Given the description of an element on the screen output the (x, y) to click on. 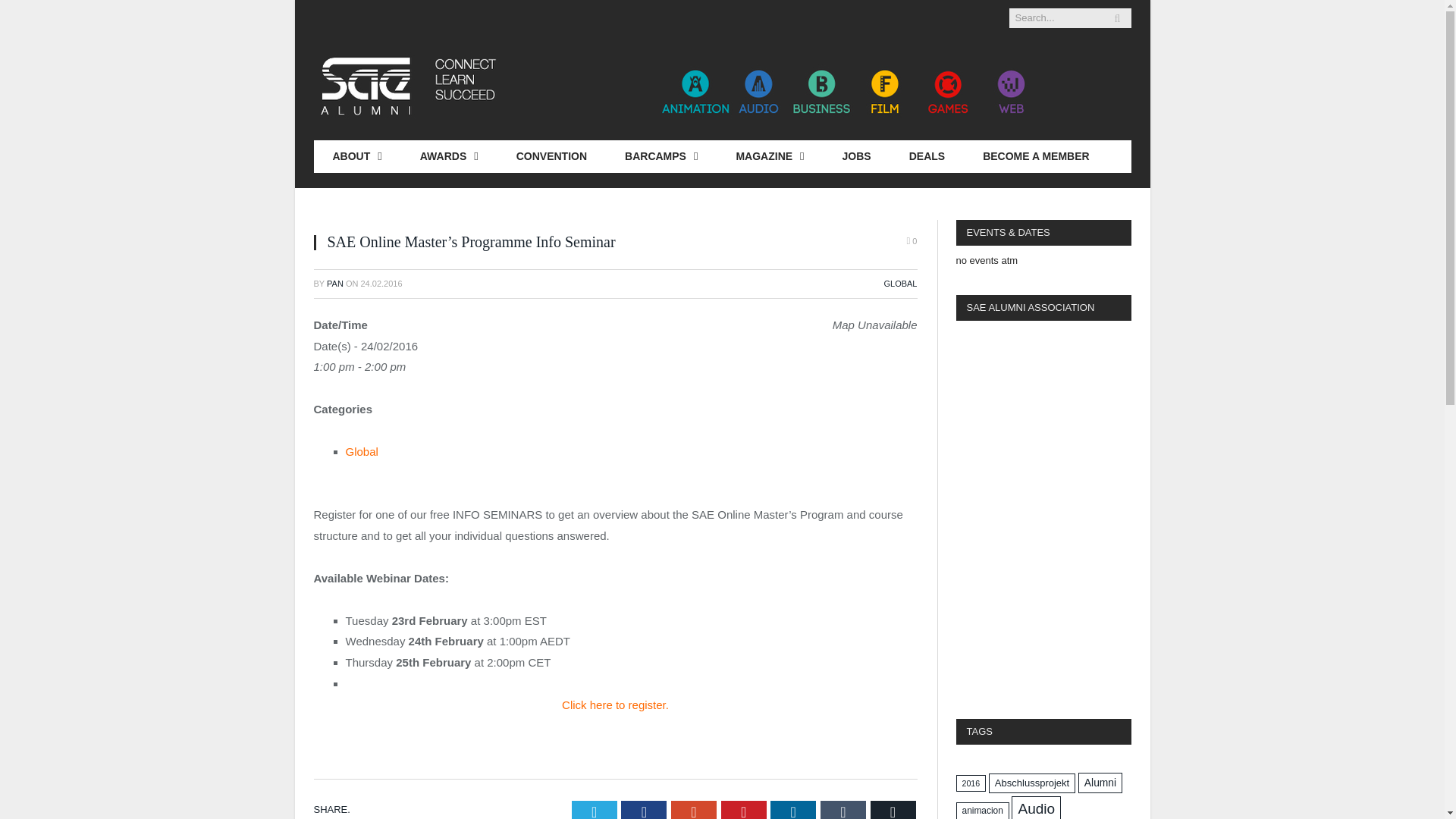
CONVENTION (551, 156)
SAE Alumni Association Europe (678, 84)
AWARDS (449, 156)
View all posts in Global (900, 283)
BARCAMPS (660, 156)
JOBS (856, 156)
DEALS (926, 156)
Posts by pan (334, 283)
ABOUT (357, 156)
MAGAZINE (769, 156)
